Given the description of an element on the screen output the (x, y) to click on. 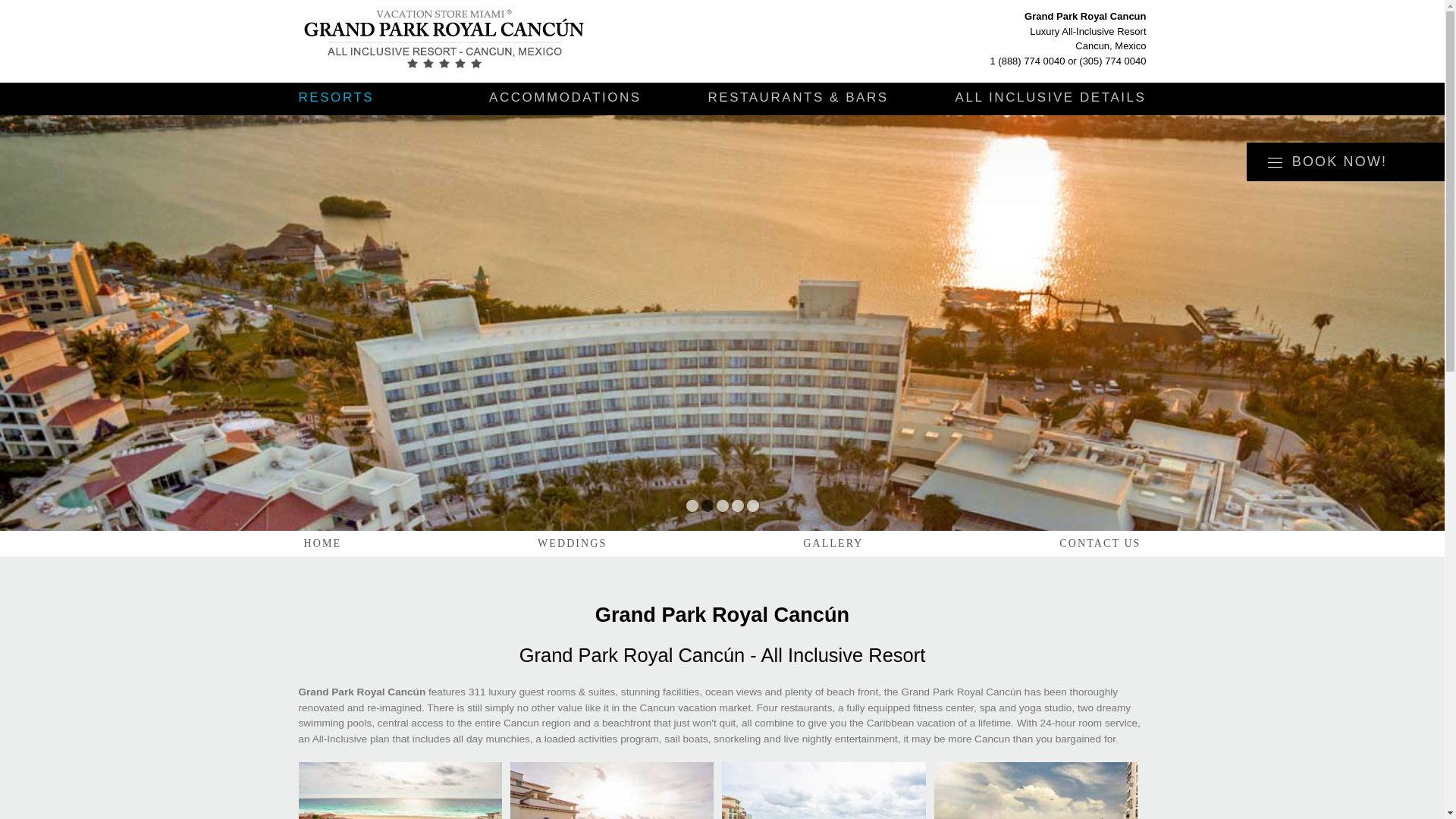
Grand Park Royal Cancun Caribe - Luxury All-Inclusive Resort (475, 41)
ALL INCLUSIVE DETAILS (1051, 97)
ACCOMMODATIONS (565, 97)
RESORTS (336, 97)
